Given the description of an element on the screen output the (x, y) to click on. 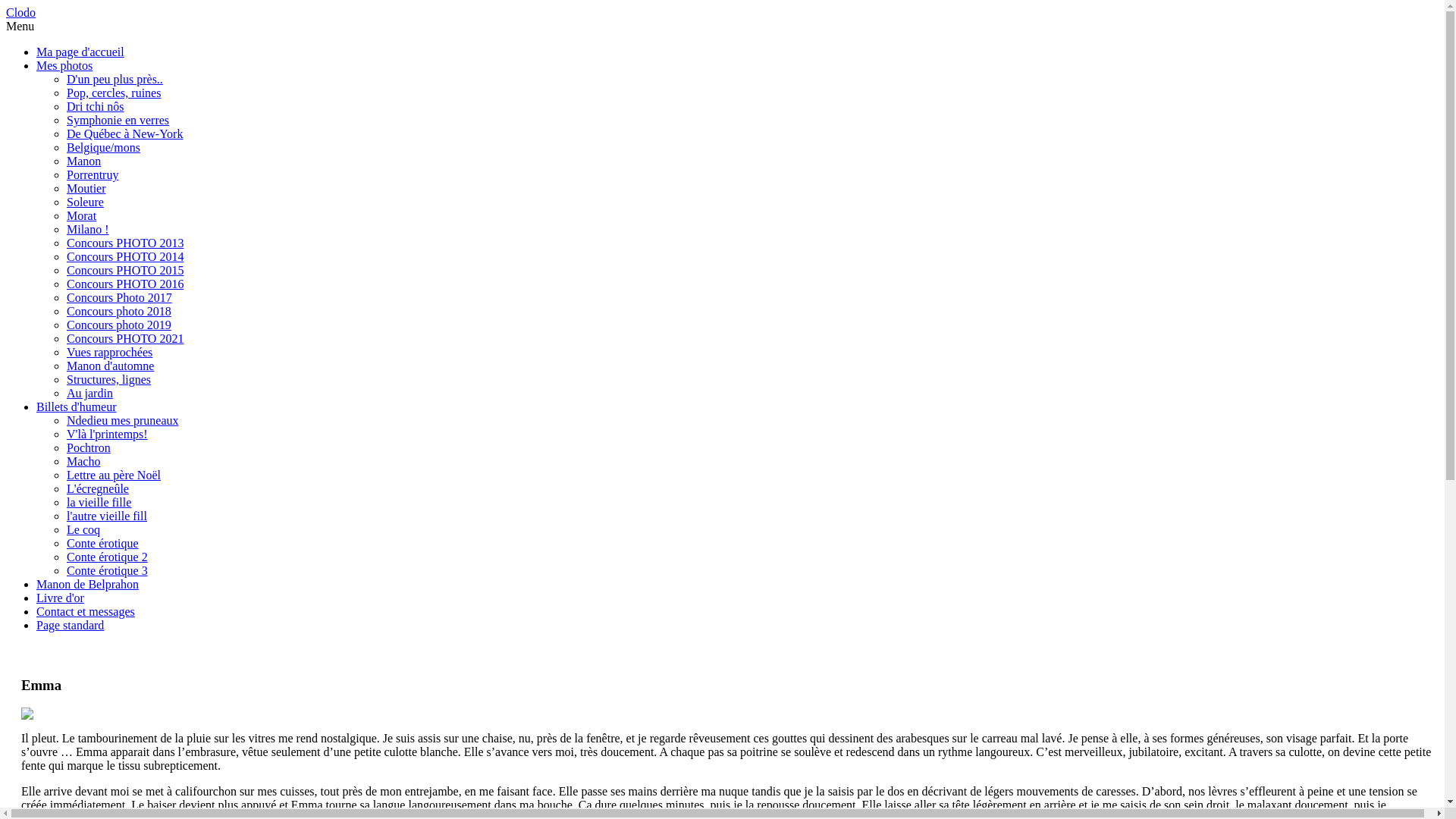
Concours PHOTO 2015 Element type: text (124, 269)
Mes photos Element type: text (64, 65)
Pop, cercles, ruines Element type: text (113, 92)
Manon d'automne Element type: text (109, 365)
Ndedieu mes pruneaux Element type: text (122, 420)
Porrentruy Element type: text (92, 174)
Pochtron Element type: text (88, 447)
l'autre vieille fill Element type: text (106, 515)
Clodo Element type: text (20, 12)
Ma page d'accueil Element type: text (80, 51)
Concours PHOTO 2013 Element type: text (124, 242)
Concours PHOTO 2014 Element type: text (124, 256)
Soleure Element type: text (84, 201)
Contact et messages Element type: text (85, 611)
Concours photo 2019 Element type: text (118, 324)
Concours PHOTO 2016 Element type: text (124, 283)
Concours PHOTO 2021 Element type: text (124, 338)
Concours Photo 2017 Element type: text (119, 297)
Concours photo 2018 Element type: text (118, 310)
Menu Element type: text (20, 25)
Manon Element type: text (83, 160)
Symphonie en verres Element type: text (117, 119)
Le coq Element type: text (83, 529)
Structures, lignes Element type: text (108, 379)
Milano ! Element type: text (87, 228)
Billets d'humeur Element type: text (76, 406)
Morat Element type: text (81, 215)
Page standard Element type: text (69, 624)
Manon de Belprahon Element type: text (87, 583)
Macho Element type: text (83, 461)
Moutier Element type: text (86, 188)
Belgique/mons Element type: text (103, 147)
Livre d'or Element type: text (60, 597)
Au jardin Element type: text (89, 392)
la vieille fille Element type: text (98, 501)
